Given the description of an element on the screen output the (x, y) to click on. 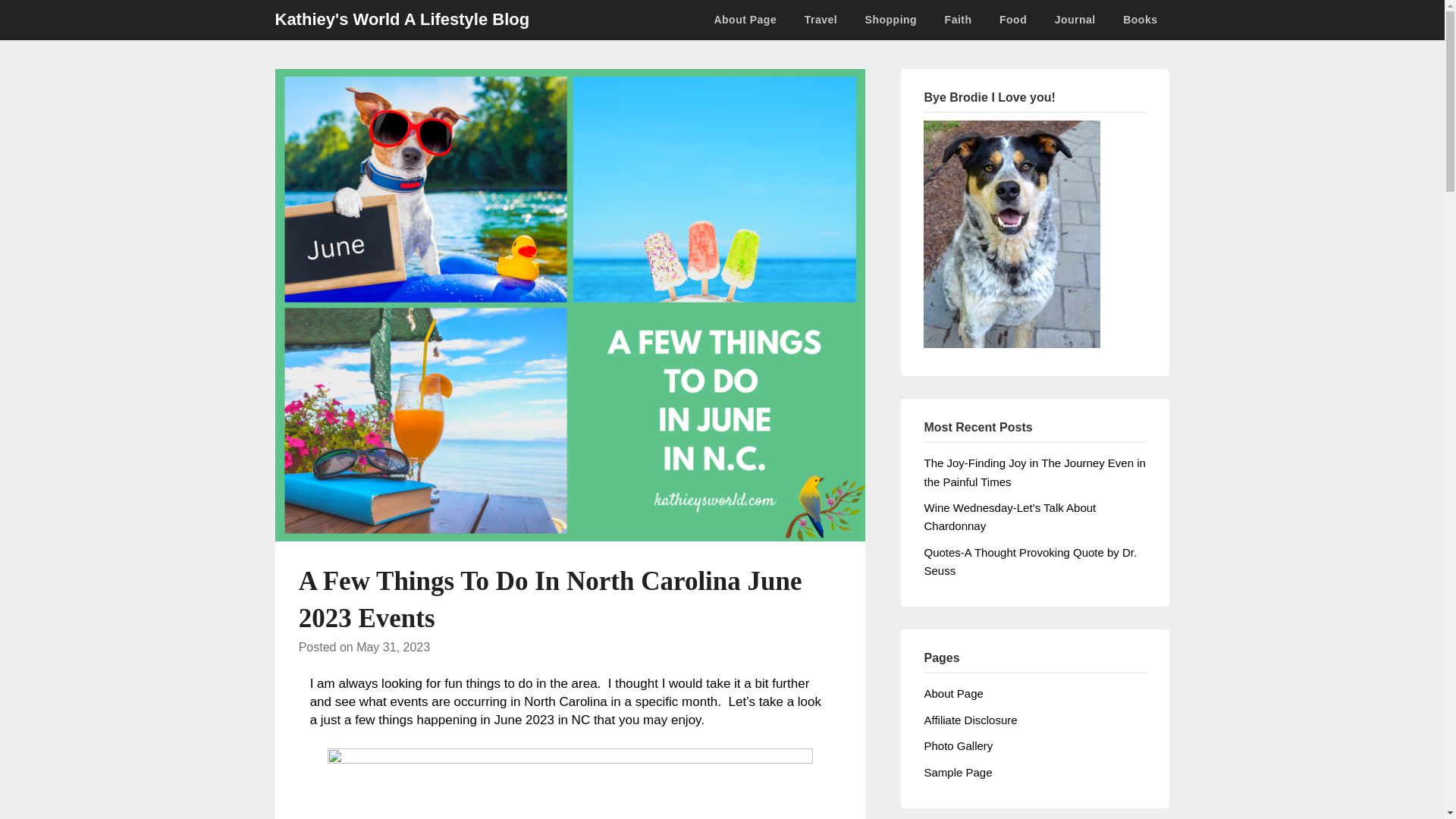
Shopping (891, 20)
Books (1139, 20)
About Page (751, 20)
The Joy-Finding Joy in The Journey Even in the Painful Times (1033, 471)
May 31, 2023 (392, 646)
Quotes-A Thought Provoking Quote by Dr. Seuss (1030, 561)
Travel (820, 20)
Journal (1075, 20)
Kathiey's World A Lifestyle Blog (402, 19)
Food (1013, 20)
Faith (958, 20)
